Given the description of an element on the screen output the (x, y) to click on. 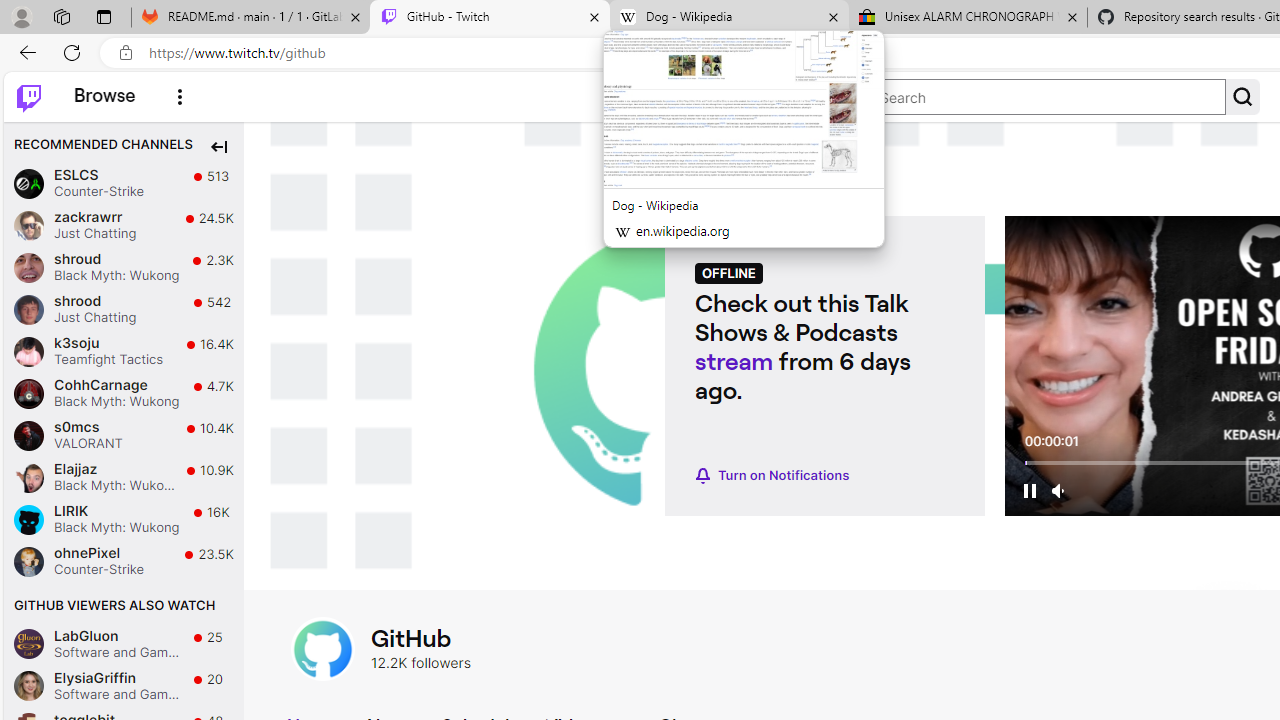
CohhCarnage CohhCarnage Black Myth: Wukong Live 4.7K viewers (123, 393)
More Options (180, 96)
GitHub (421, 637)
Search Button (1242, 97)
Class: ScIconSVG-sc-1q25cff-1 jpczqG (1242, 96)
Pause (space/k) (1029, 490)
s0mcs (28, 434)
shroud (28, 266)
zackrawrr zackrawrr Just Chatting Live 24.5K viewers (123, 224)
shrood (28, 308)
ESLCS ESLCS Counter-Strike Live 513 viewers (123, 183)
Dog - Wikipedia (729, 17)
stream (734, 359)
